Given the description of an element on the screen output the (x, y) to click on. 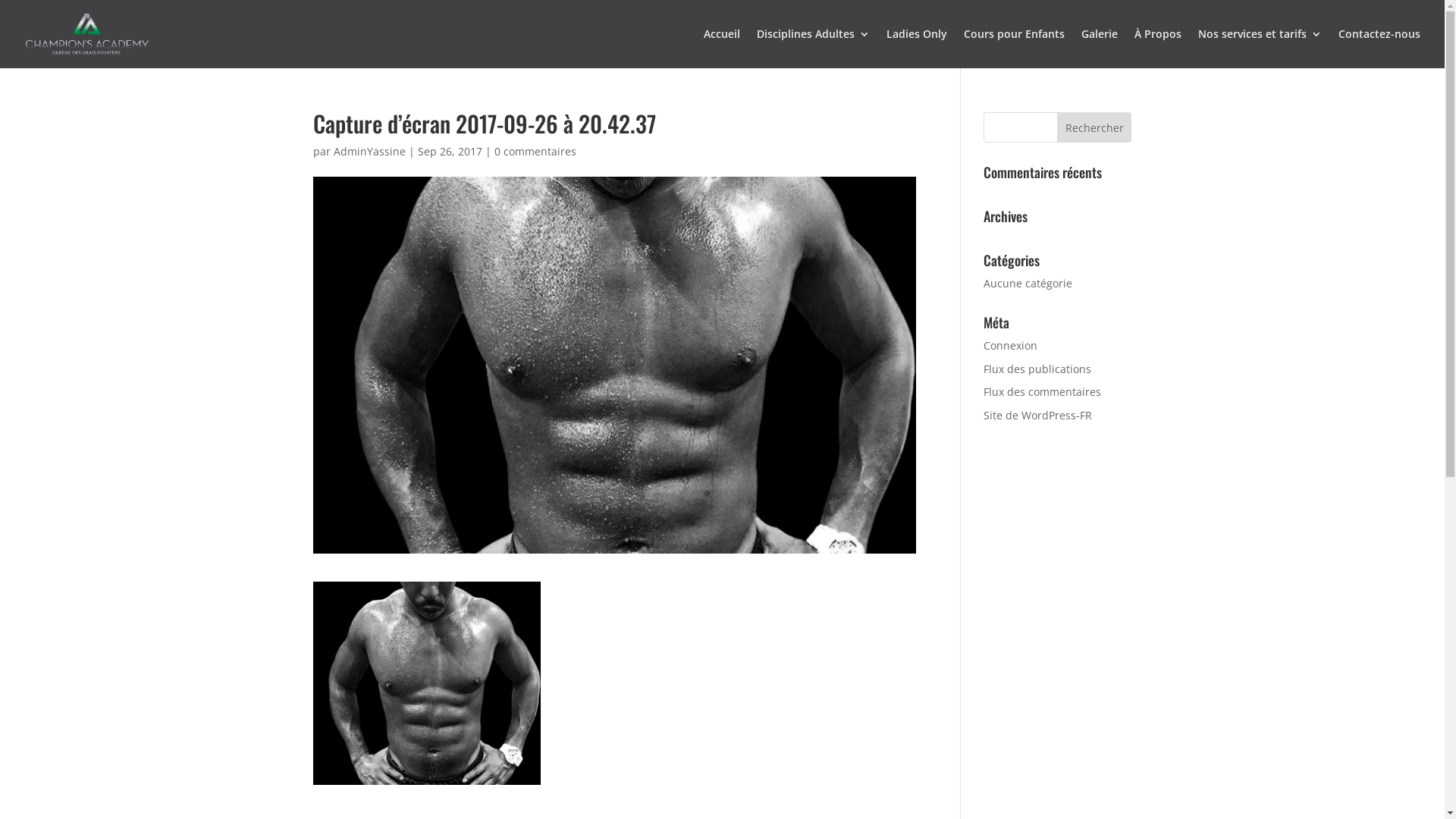
Ladies Only Element type: text (916, 48)
Connexion Element type: text (1010, 345)
Accueil Element type: text (721, 48)
Contactez-nous Element type: text (1379, 48)
Nos services et tarifs Element type: text (1259, 48)
Flux des commentaires Element type: text (1042, 391)
Galerie Element type: text (1099, 48)
Rechercher Element type: text (1094, 127)
Flux des publications Element type: text (1037, 368)
Disciplines Adultes Element type: text (812, 48)
0 commentaires Element type: text (535, 151)
Site de WordPress-FR Element type: text (1037, 414)
AdminYassine Element type: text (369, 151)
Cours pour Enfants Element type: text (1013, 48)
